Given the description of an element on the screen output the (x, y) to click on. 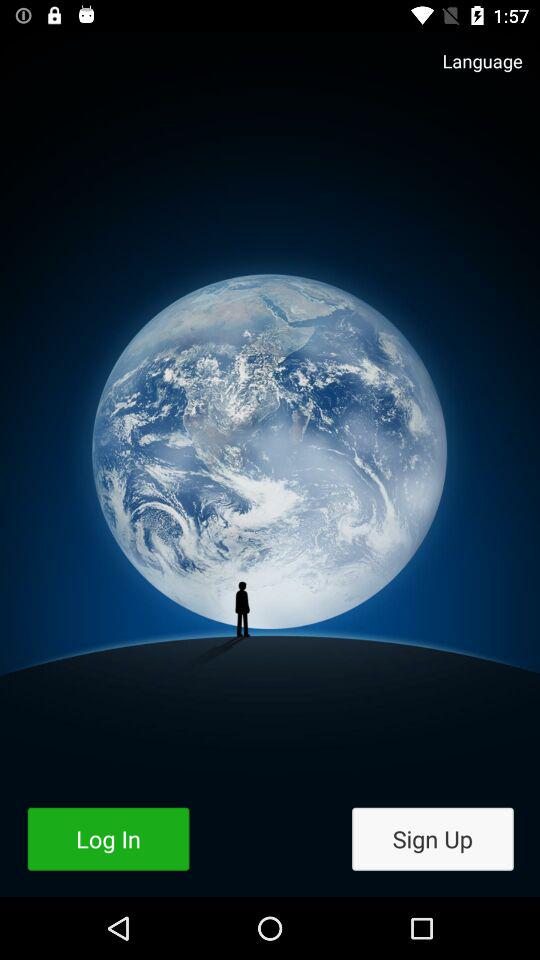
scroll to the sign up icon (432, 838)
